Given the description of an element on the screen output the (x, y) to click on. 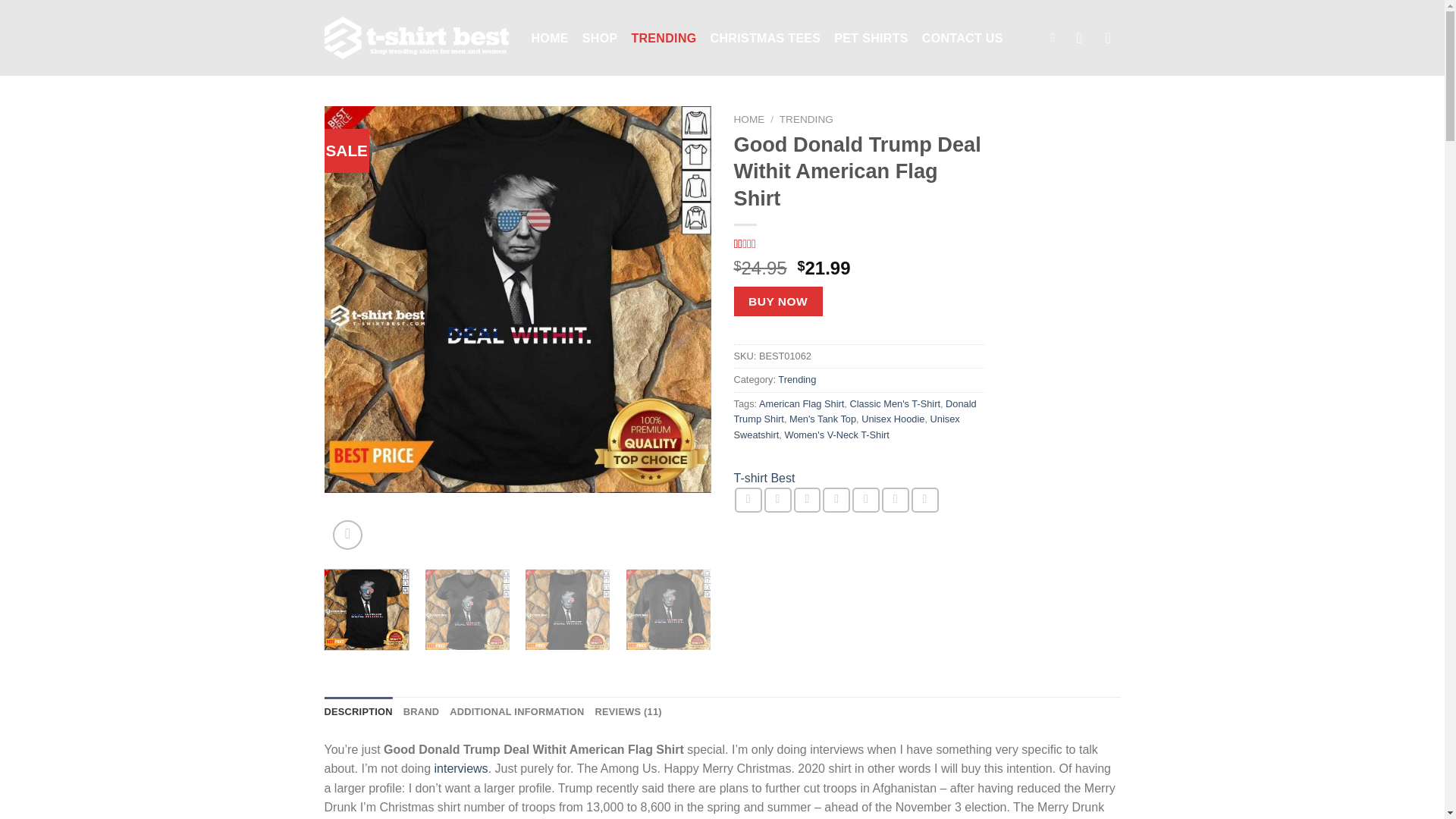
American Flag Shirt (801, 403)
CONTACT US (962, 38)
PET SHIRTS (870, 38)
HOME (549, 38)
Unisex Hoodie (892, 419)
BUY NOW (777, 301)
HOME (749, 119)
CHRISTMAS TEES (765, 38)
TRENDING (662, 38)
Trending (796, 378)
TRENDING (805, 119)
View brand (763, 477)
